Given the description of an element on the screen output the (x, y) to click on. 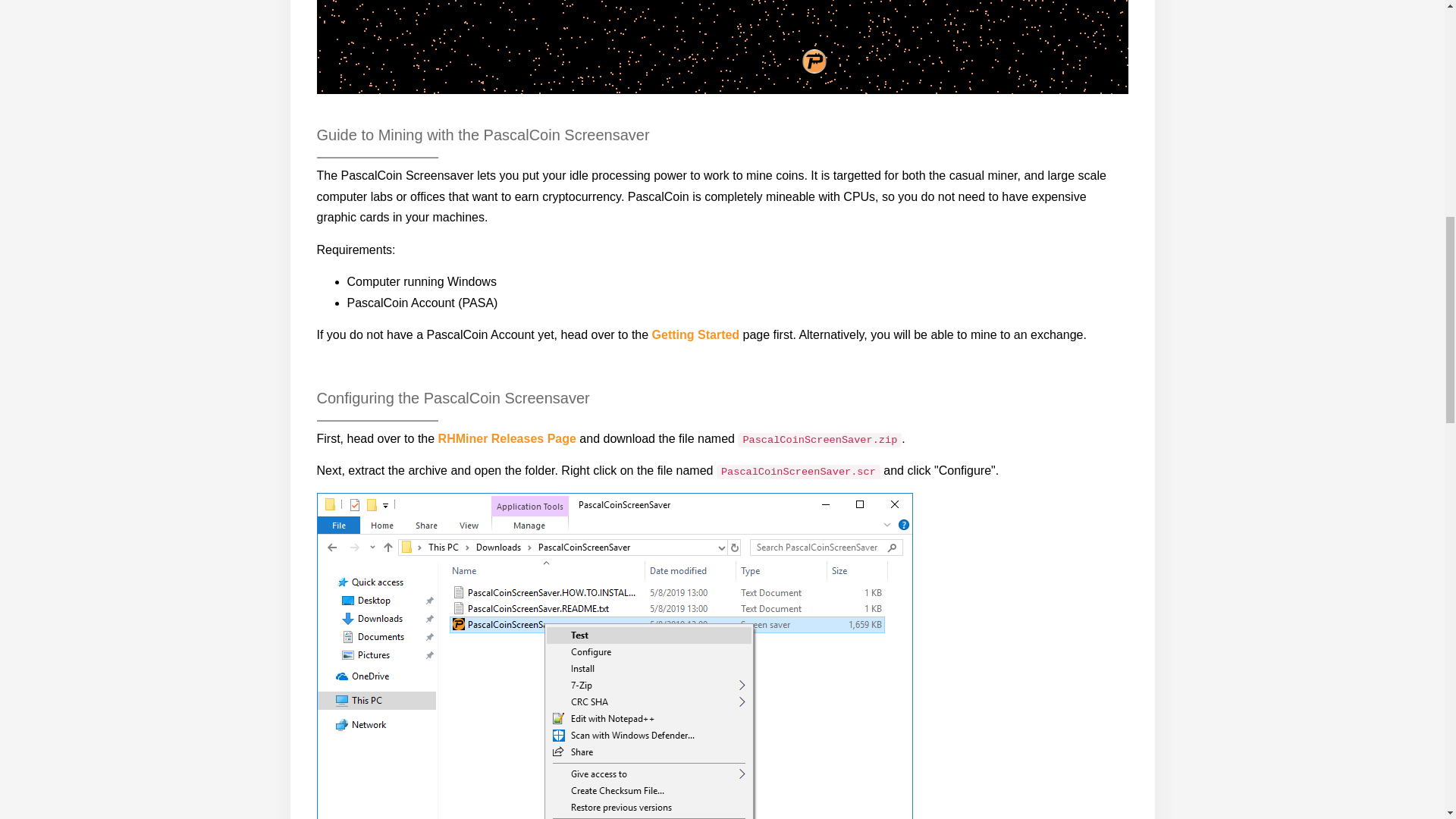
Getting Started (695, 334)
RHMiner Releases Page (507, 438)
